Given the description of an element on the screen output the (x, y) to click on. 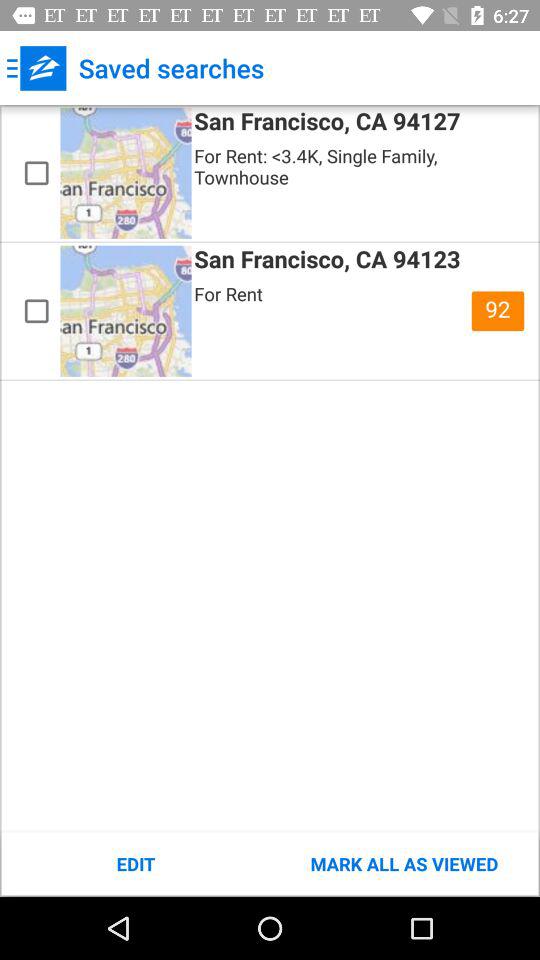
turn off item next to saved searches (36, 68)
